Given the description of an element on the screen output the (x, y) to click on. 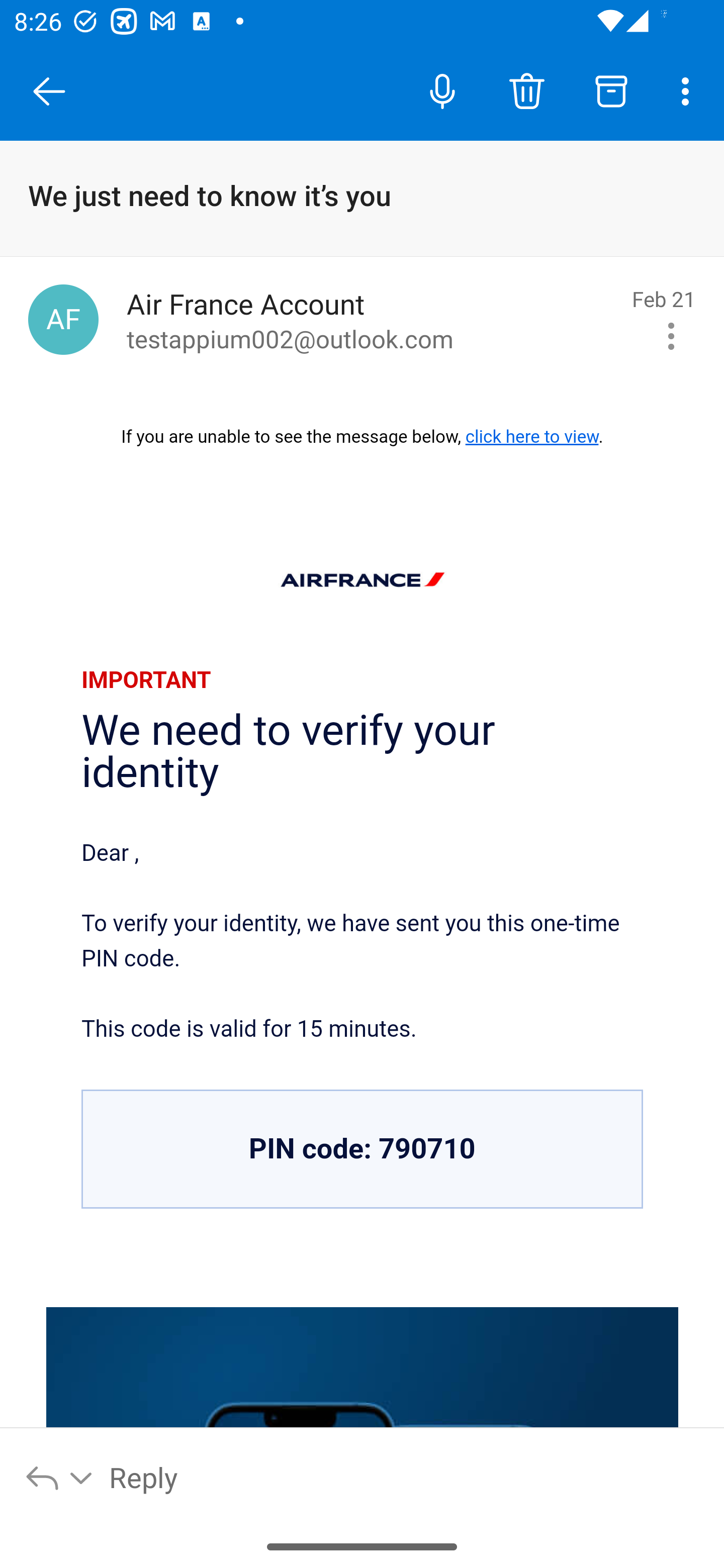
Close (49, 91)
Delete (526, 90)
Archive (611, 90)
More options (688, 90)
Air France Account, account@infos-airfrance.com (63, 318)
Air France Account
to testappium002@outlook.com (371, 319)
Message actions (671, 336)
click here to view (531, 436)
Reply options (59, 1476)
